Given the description of an element on the screen output the (x, y) to click on. 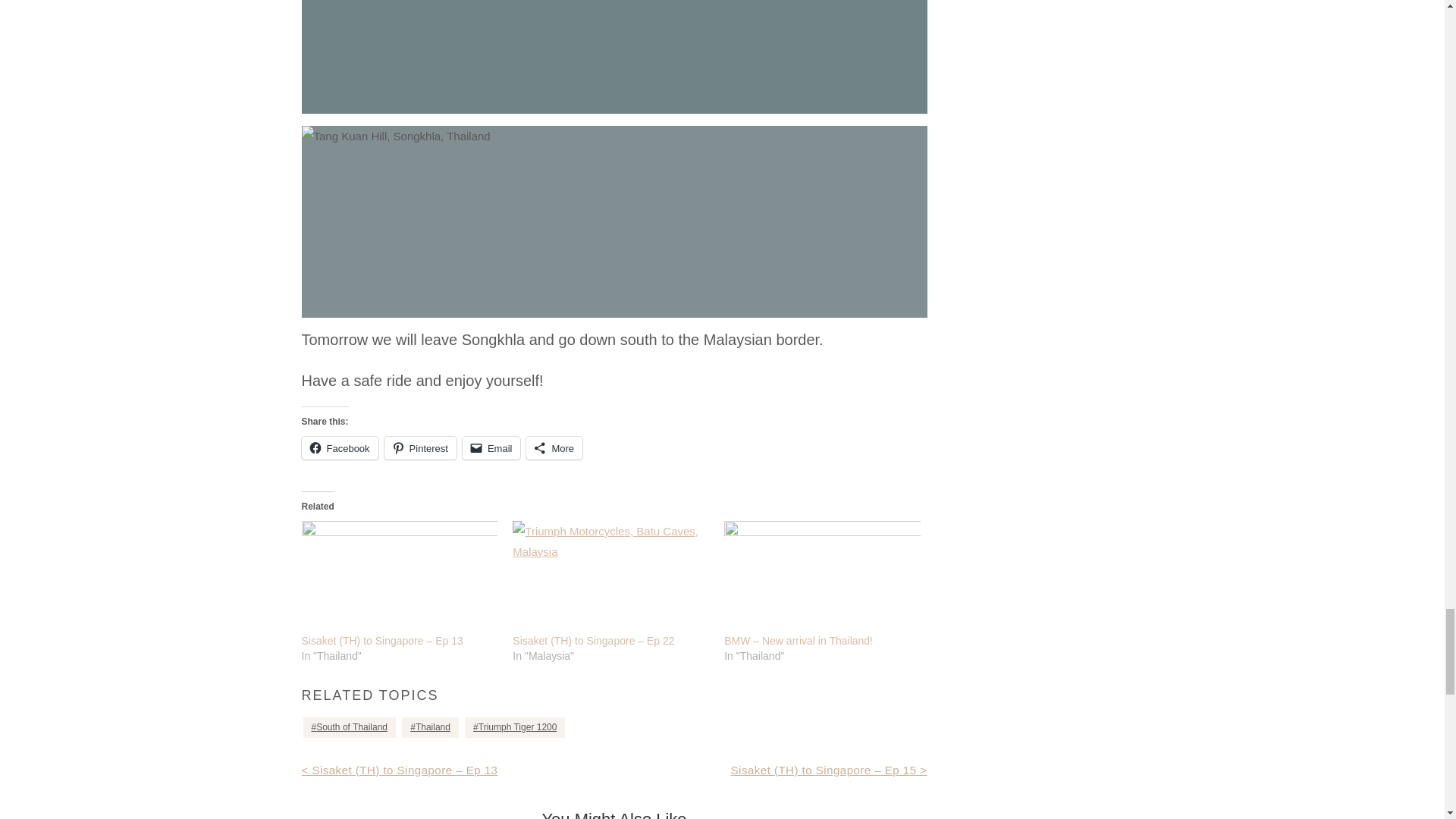
Click to email a link to a friend (492, 447)
Click to share on Facebook (339, 447)
Click to share on Pinterest (420, 447)
